Given the description of an element on the screen output the (x, y) to click on. 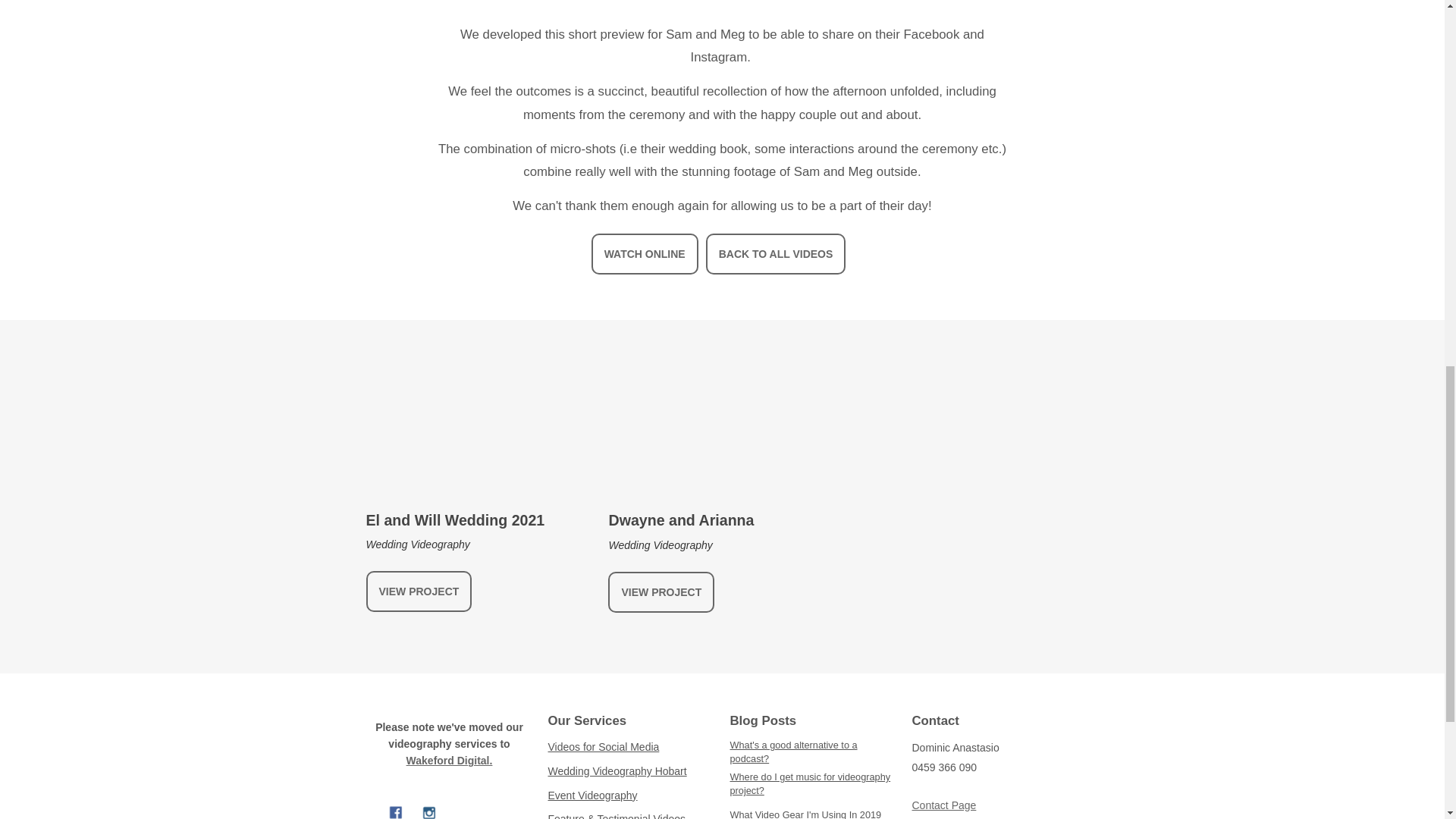
Videos for Social Media (603, 747)
BACK TO ALL VIDEOS (775, 253)
WATCH ONLINE (644, 253)
Wedding Videography Hobart (616, 771)
VIEW PROJECT (661, 591)
VIEW PROJECT (418, 590)
Wakeford Digital. (449, 760)
Event Videography (592, 795)
YouTube embed (475, 442)
What's a good alternative to a podcast? (812, 751)
